Given the description of an element on the screen output the (x, y) to click on. 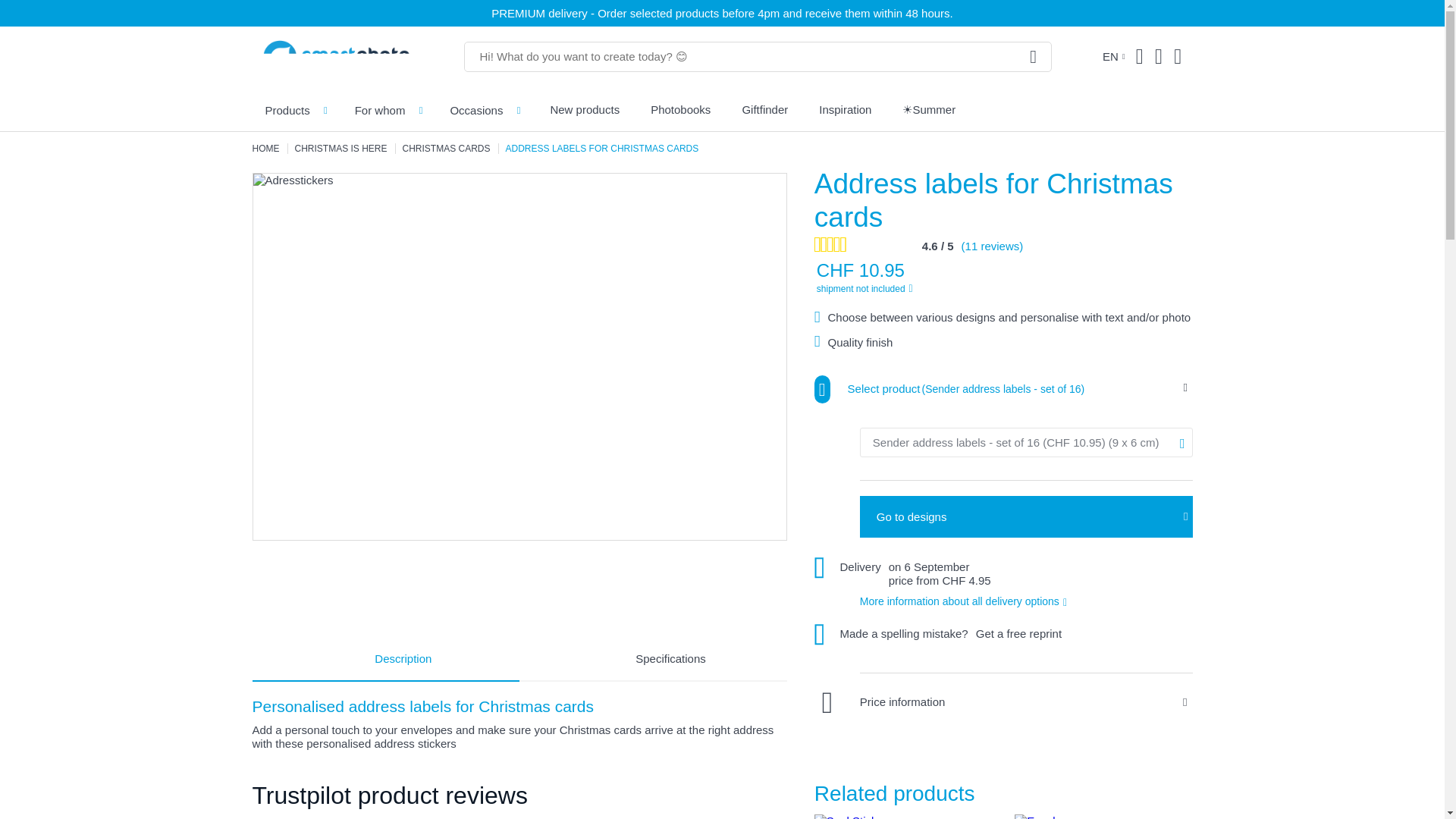
Giftfinder (764, 109)
Go to designs (1026, 516)
smartphoto logo (335, 56)
shipment not included (947, 287)
CHRISTMAS IS HERE (340, 147)
Christmas cards (446, 147)
Adresstickers (293, 180)
HOME (265, 147)
Christmas is here (340, 147)
